Given the description of an element on the screen output the (x, y) to click on. 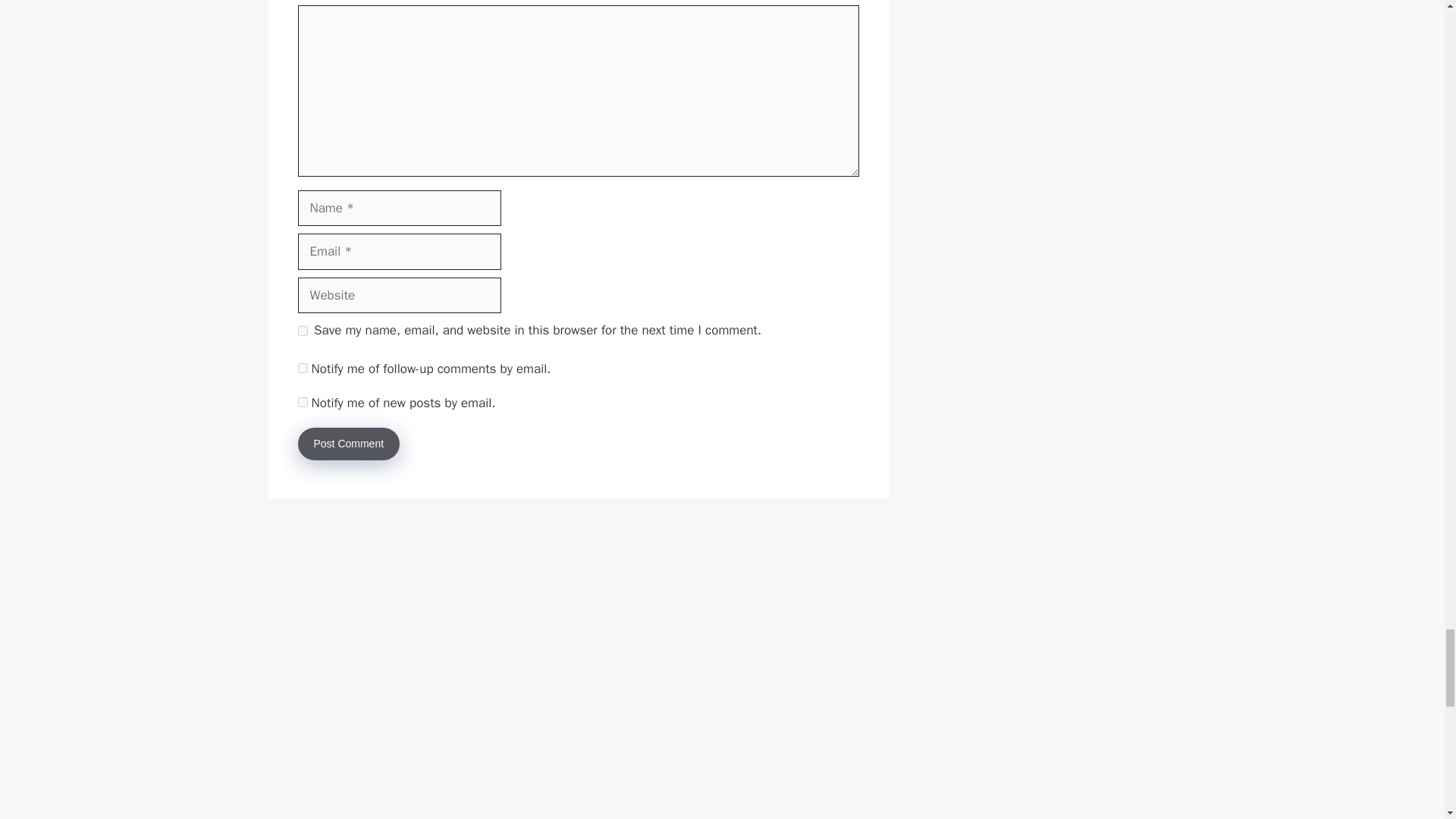
subscribe (302, 368)
Post Comment (347, 443)
yes (302, 330)
subscribe (302, 402)
Post Comment (347, 443)
